Given the description of an element on the screen output the (x, y) to click on. 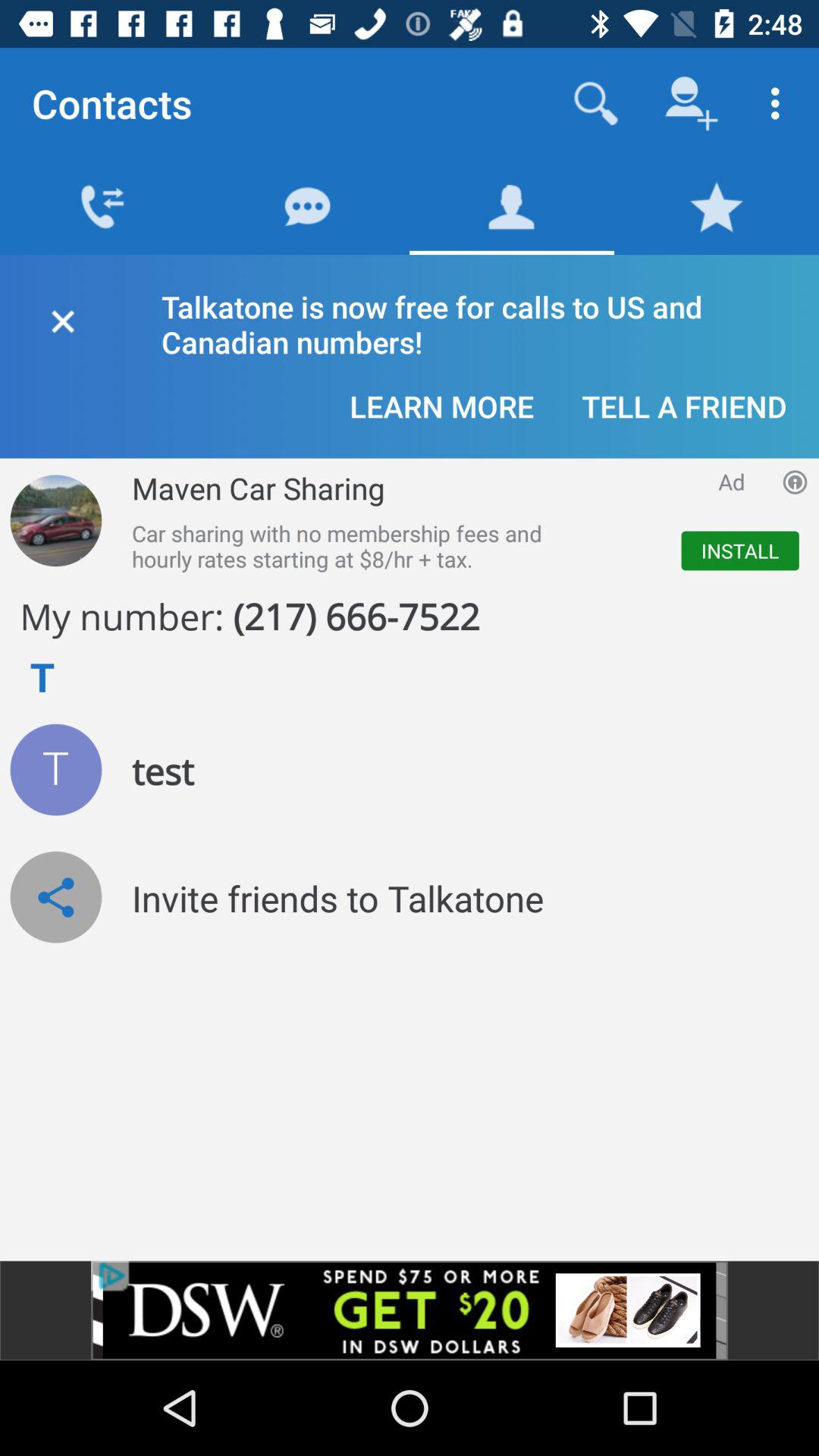
open advertisement (409, 1310)
